Given the description of an element on the screen output the (x, y) to click on. 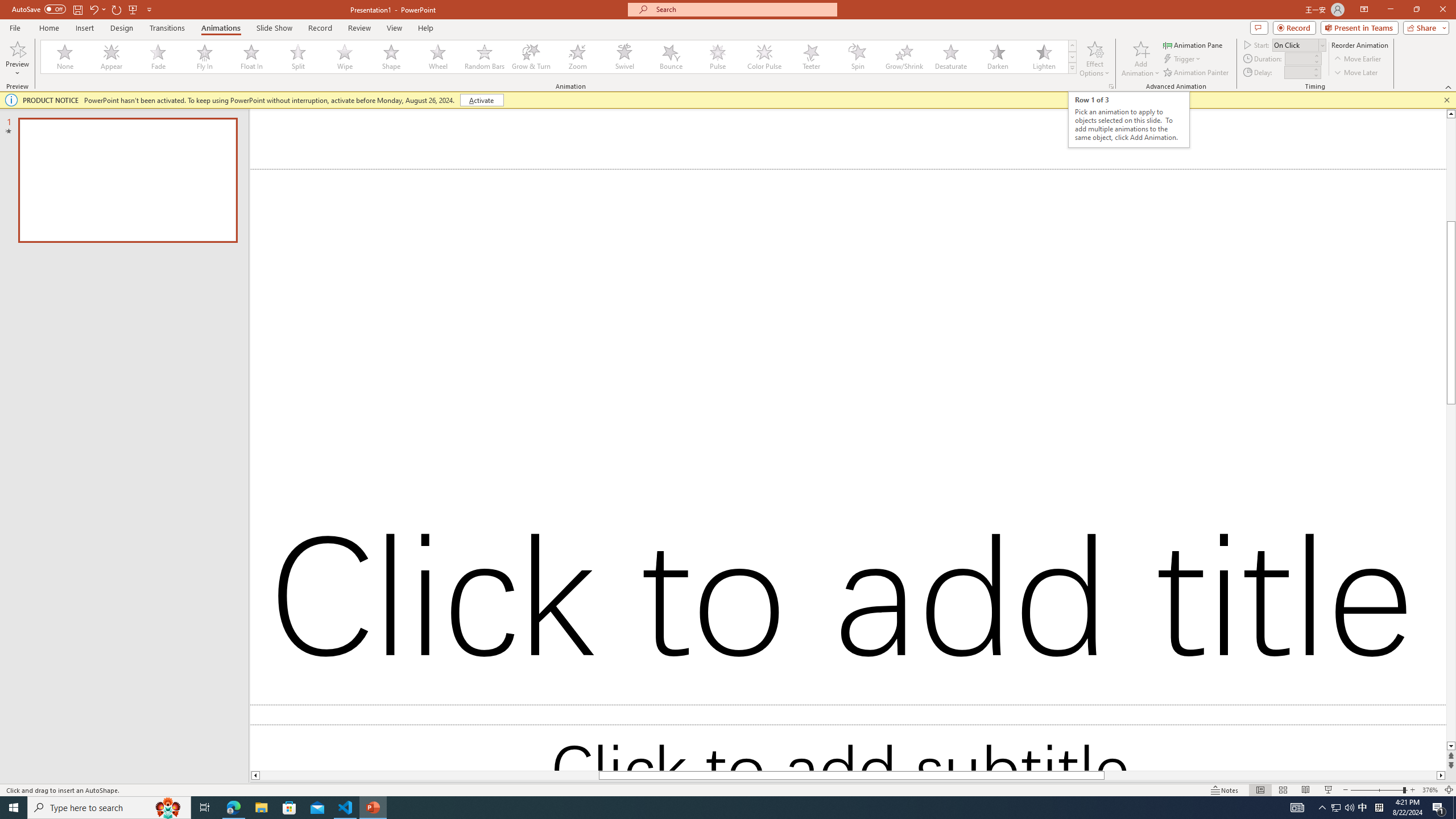
Move Later (1355, 72)
Trigger (1182, 58)
Animation Delay (1297, 72)
More Options... (1110, 85)
Desaturate (950, 56)
Color Pulse (764, 56)
Activate (481, 100)
Class: NetUIImage (1072, 68)
Effect Options (1094, 58)
Bounce (670, 56)
Wheel (437, 56)
